Given the description of an element on the screen output the (x, y) to click on. 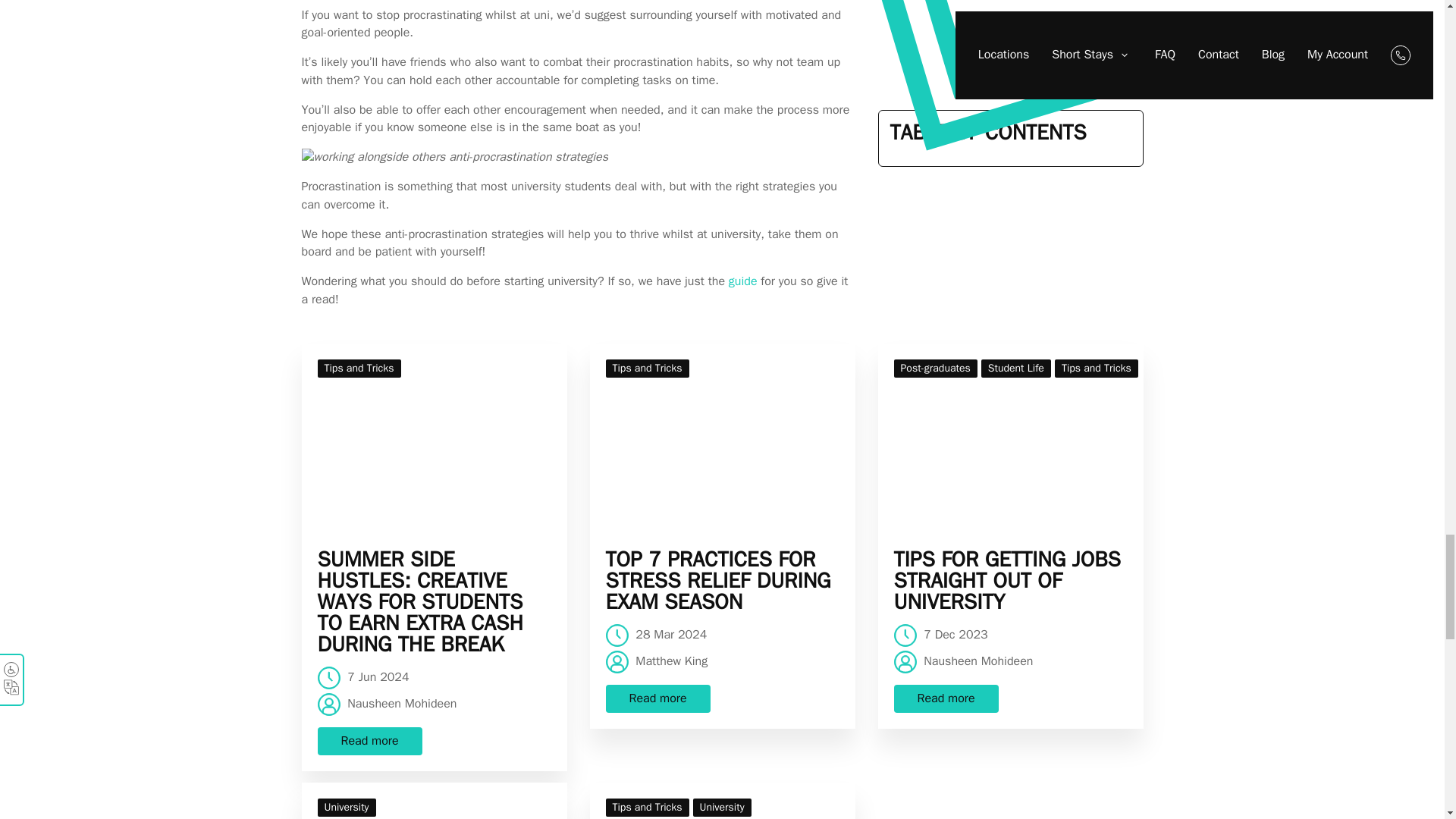
Read more (369, 741)
University (346, 807)
Tips and Tricks (358, 368)
Tips and Tricks (646, 807)
Read more (657, 698)
Read more (945, 698)
Top 7 Practices for Stress Relief During Exam Season (722, 438)
TIPS FOR GETTING JOBS STRAIGHT OUT OF UNIVERSITY (1009, 580)
Tips and Tricks (358, 368)
Tips and Tricks (646, 368)
Read more (369, 741)
TOP 7 PRACTICES FOR STRESS RELIEF DURING EXAM SEASON (721, 580)
Top 7 Practices for Stress Relief During Exam Season (721, 580)
Student Life (1016, 368)
